Given the description of an element on the screen output the (x, y) to click on. 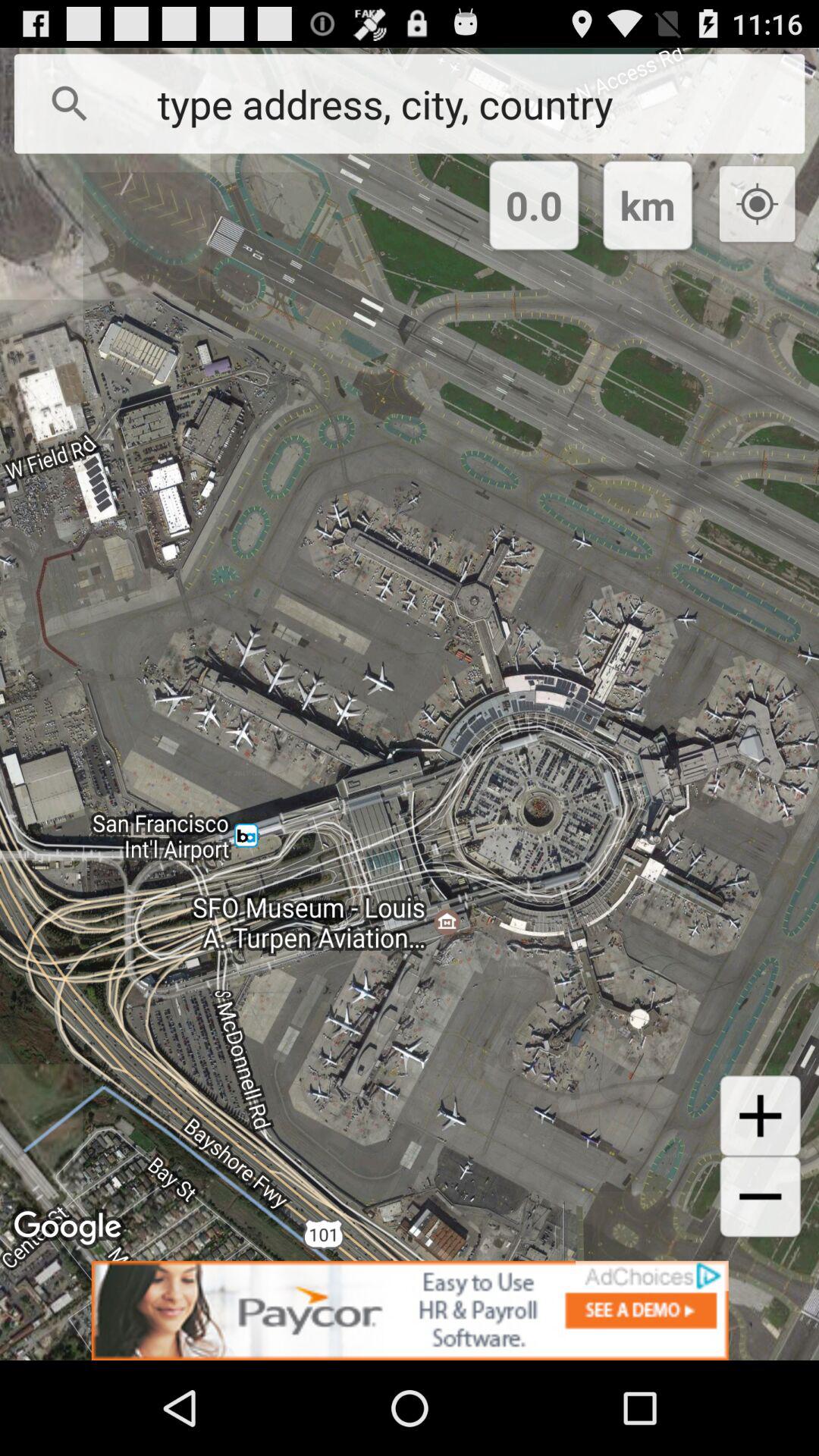
sponsored content (409, 1310)
